Given the description of an element on the screen output the (x, y) to click on. 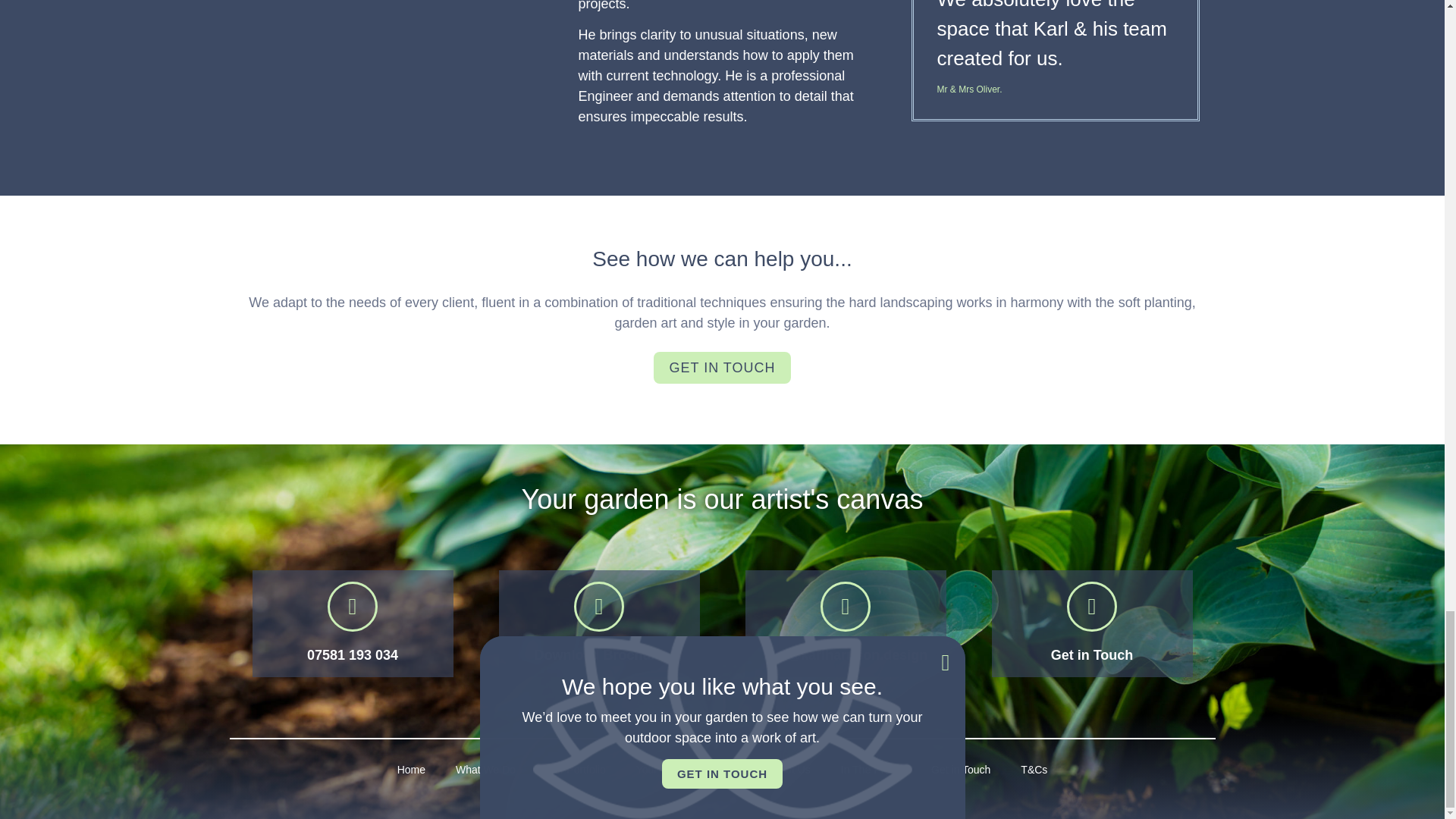
Download Brochure (598, 654)
Home (411, 769)
GET IN TOUCH (721, 368)
Our Portfolio (576, 769)
07581 193 034 (352, 654)
What We Do (486, 769)
Get in Touch (1092, 654)
